Given the description of an element on the screen output the (x, y) to click on. 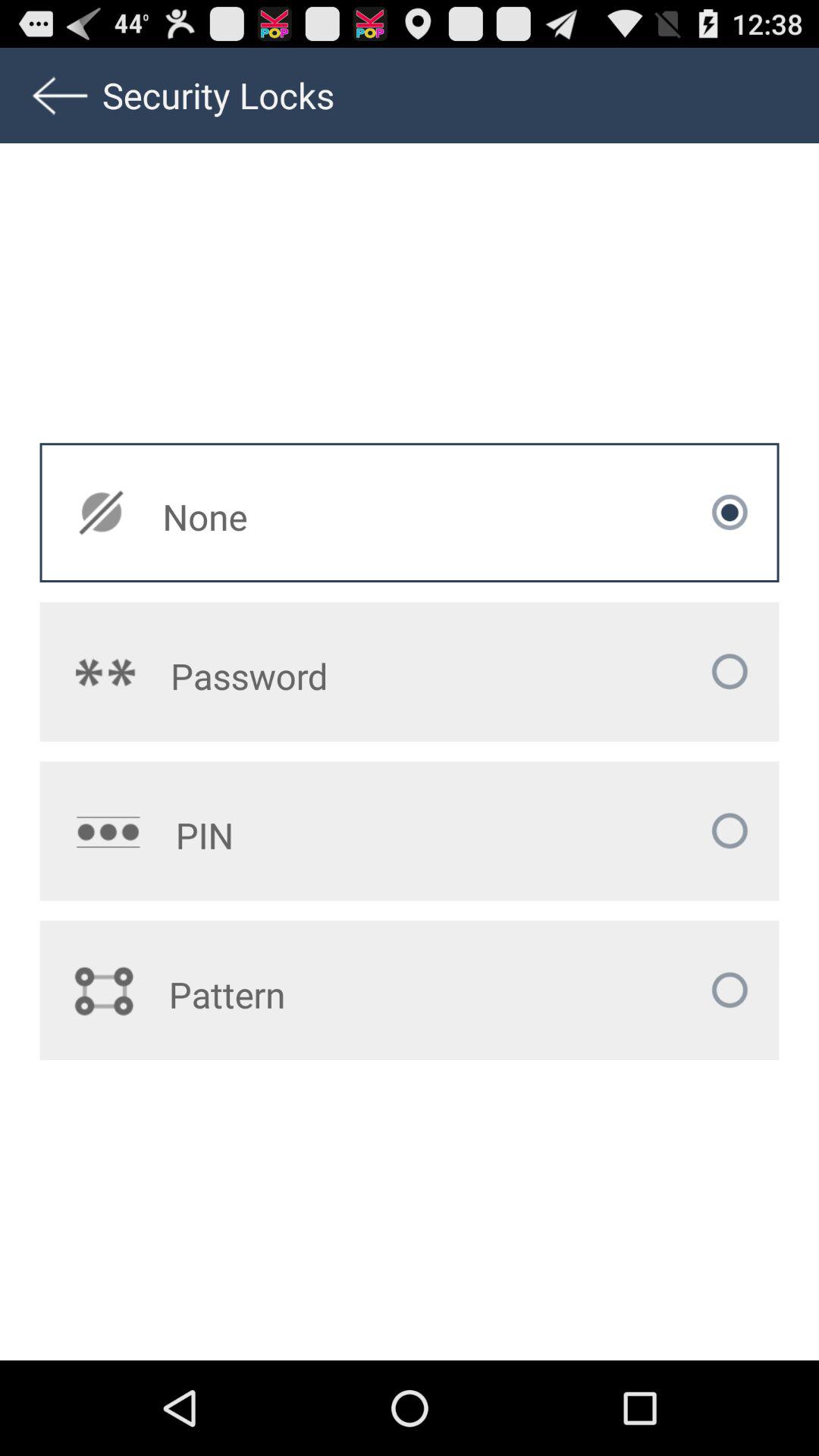
tap icon below the security locks icon (311, 516)
